Given the description of an element on the screen output the (x, y) to click on. 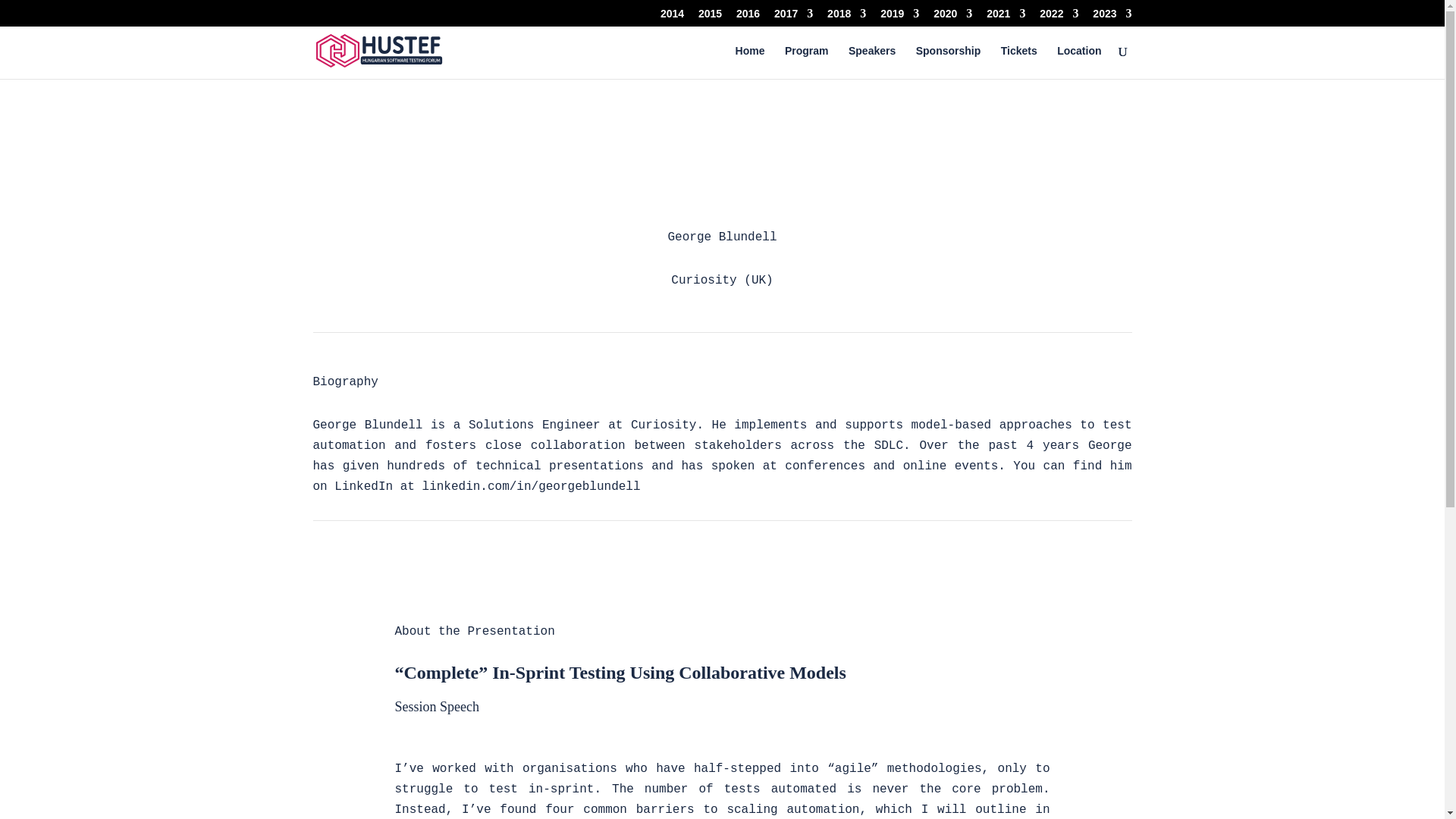
2020 (952, 16)
Program (806, 61)
2015 (710, 16)
2022 (1058, 16)
2018 (846, 16)
2014 (672, 16)
Speakers (871, 61)
Location (1078, 61)
Sponsorship (948, 61)
2019 (899, 16)
